Given the description of an element on the screen output the (x, y) to click on. 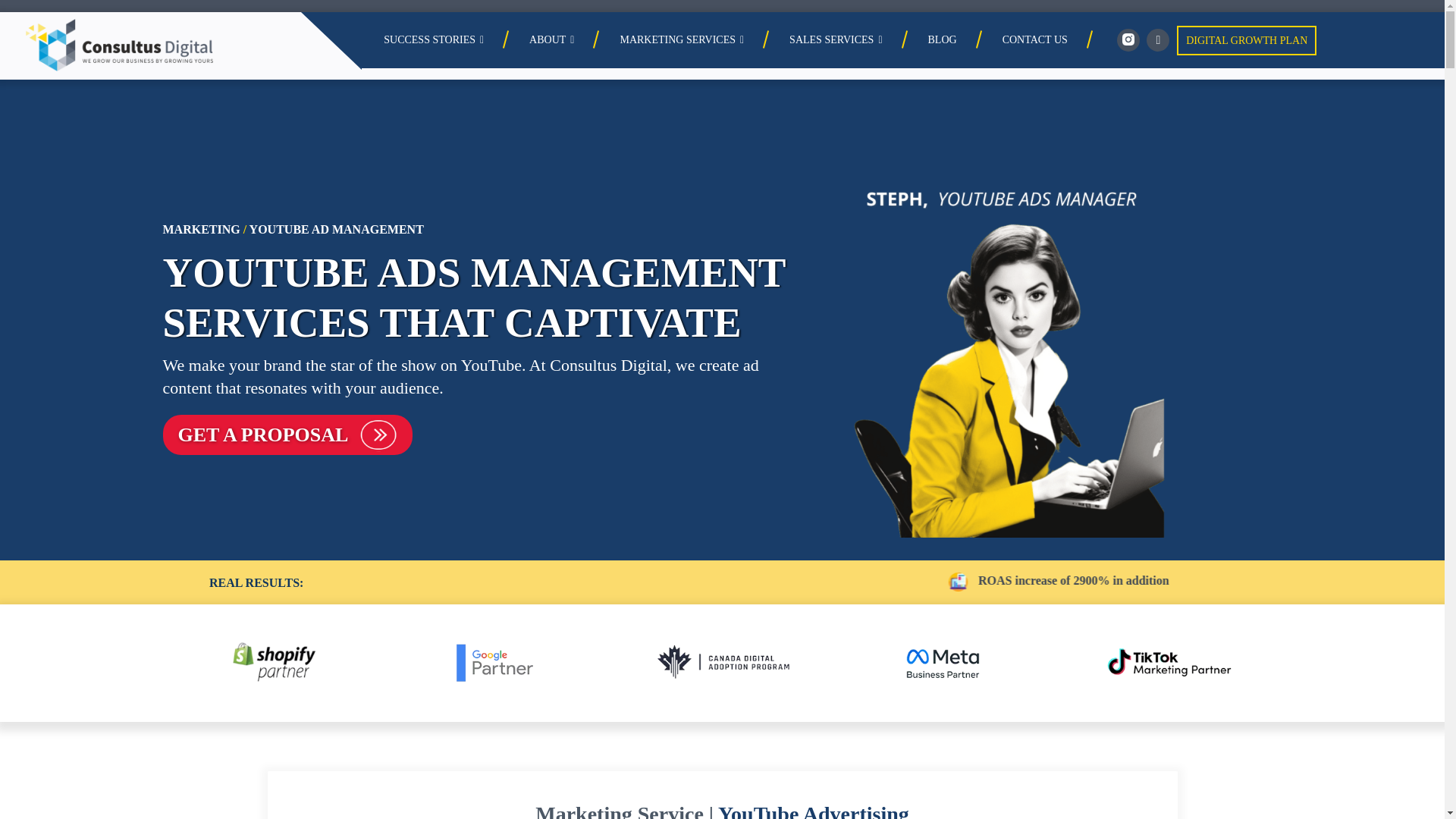
Instagram (1128, 39)
ABOUT (551, 40)
SUCCESS STORIES (433, 40)
MARKETING SERVICES (681, 40)
Facebook (1158, 39)
